Given the description of an element on the screen output the (x, y) to click on. 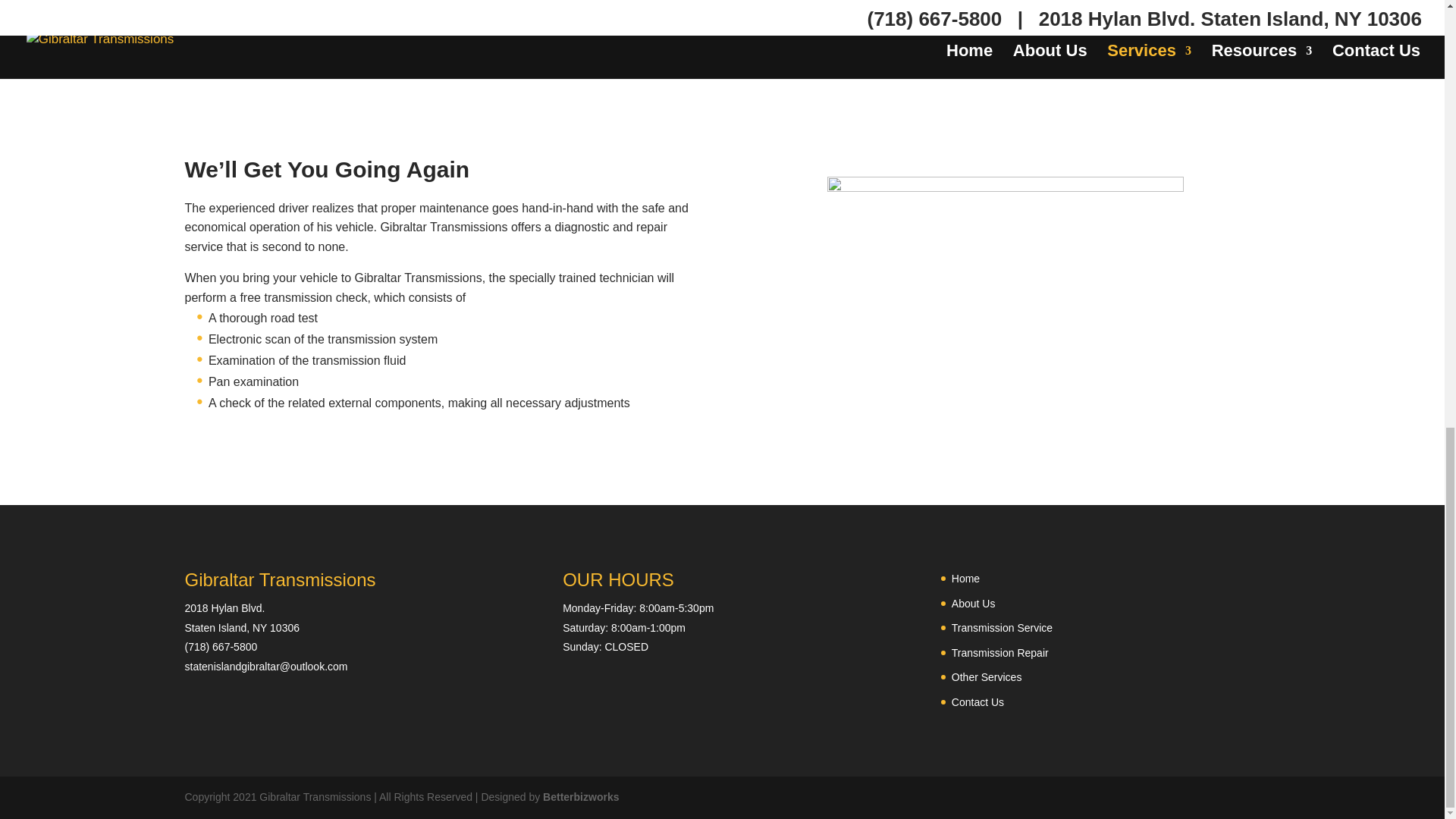
Contact Us (978, 702)
Home (965, 578)
Betterbizworks (580, 797)
Transmission Repair (1000, 653)
Other Services (987, 676)
About Us (973, 603)
Transmission Service (1002, 627)
